Given the description of an element on the screen output the (x, y) to click on. 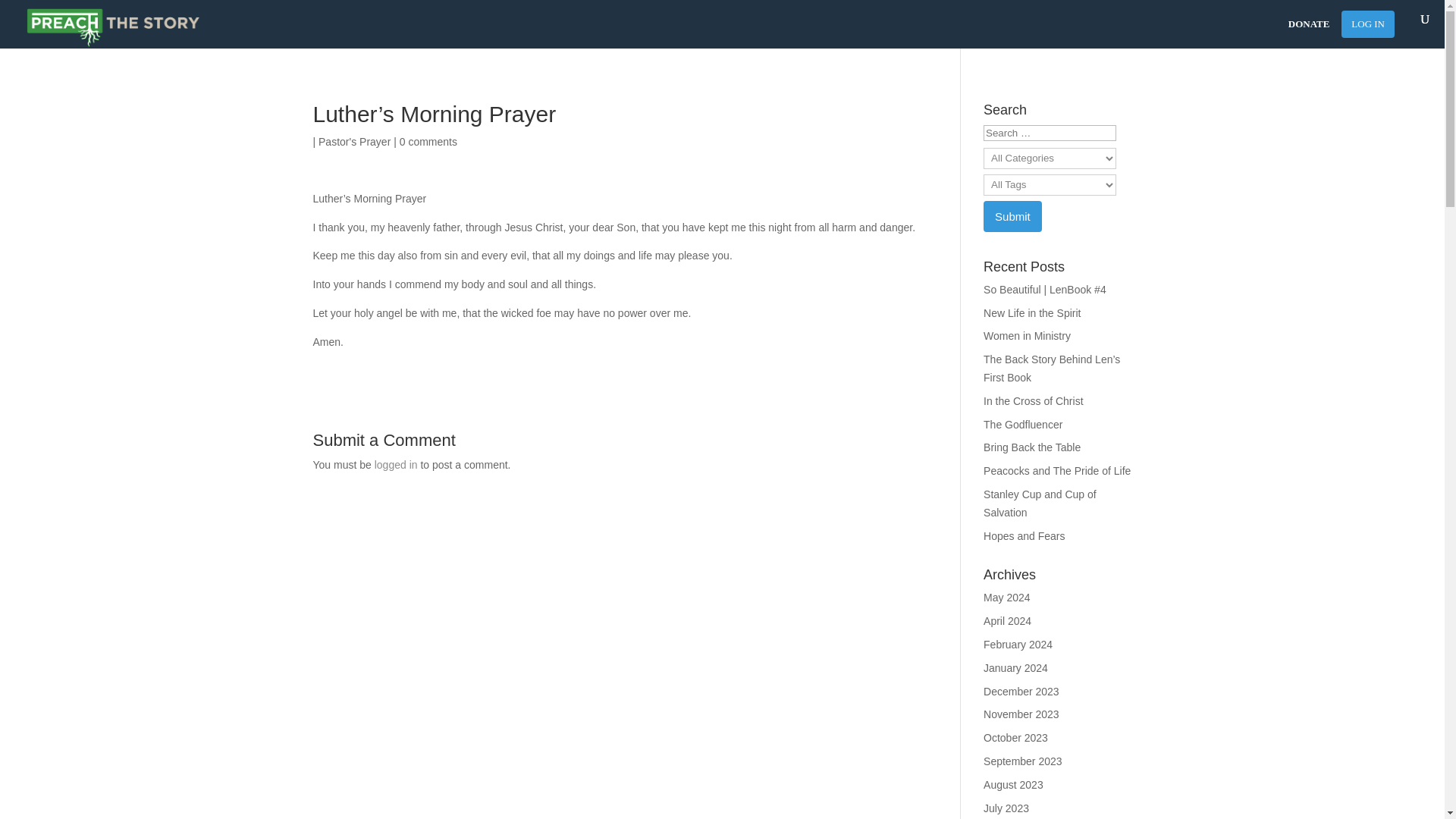
July 2023 (1006, 808)
September 2023 (1023, 761)
Bring Back the Table (1032, 447)
Stanley Cup and Cup of Salvation (1040, 503)
April 2024 (1007, 621)
New Life in the Spirit (1032, 313)
0 comments (427, 141)
Submit (1013, 215)
Pastor's Prayer (354, 141)
Log In (1367, 23)
August 2023 (1013, 784)
In the Cross of Christ (1033, 400)
Hopes and Fears (1024, 535)
logged in (395, 464)
May 2024 (1006, 597)
